Given the description of an element on the screen output the (x, y) to click on. 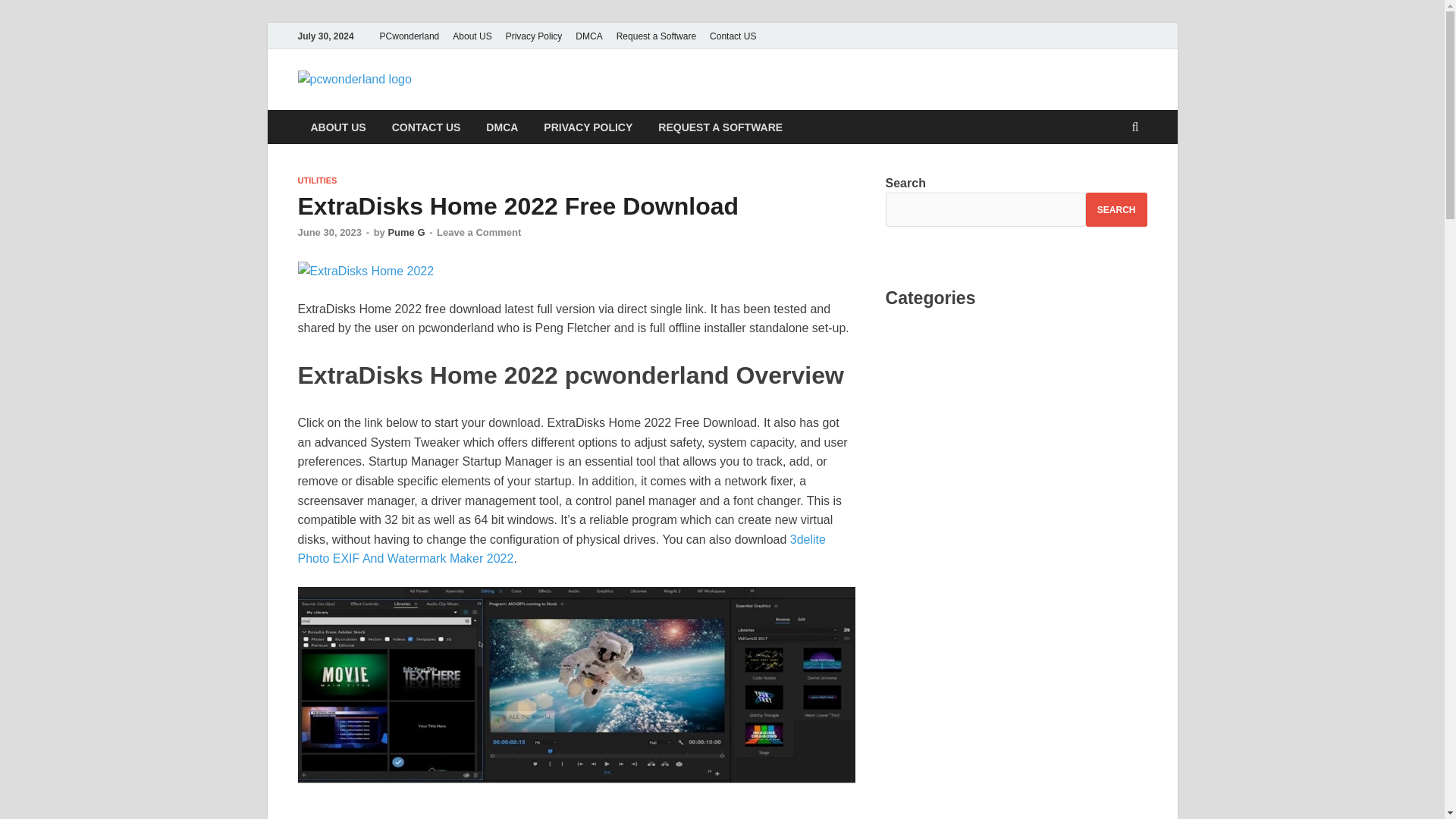
DMCA (588, 35)
Leave a Comment (478, 232)
ABOUT US (337, 126)
SEARCH (1116, 209)
REQUEST A SOFTWARE (719, 126)
About US (471, 35)
UTILITIES (316, 180)
Contact US (732, 35)
Request a Software (656, 35)
CONTACT US (426, 126)
3delite Photo EXIF And Watermark Maker 2022 (561, 549)
Privacy Policy (534, 35)
DMCA (502, 126)
June 30, 2023 (329, 232)
PRIVACY POLICY (588, 126)
